Given the description of an element on the screen output the (x, y) to click on. 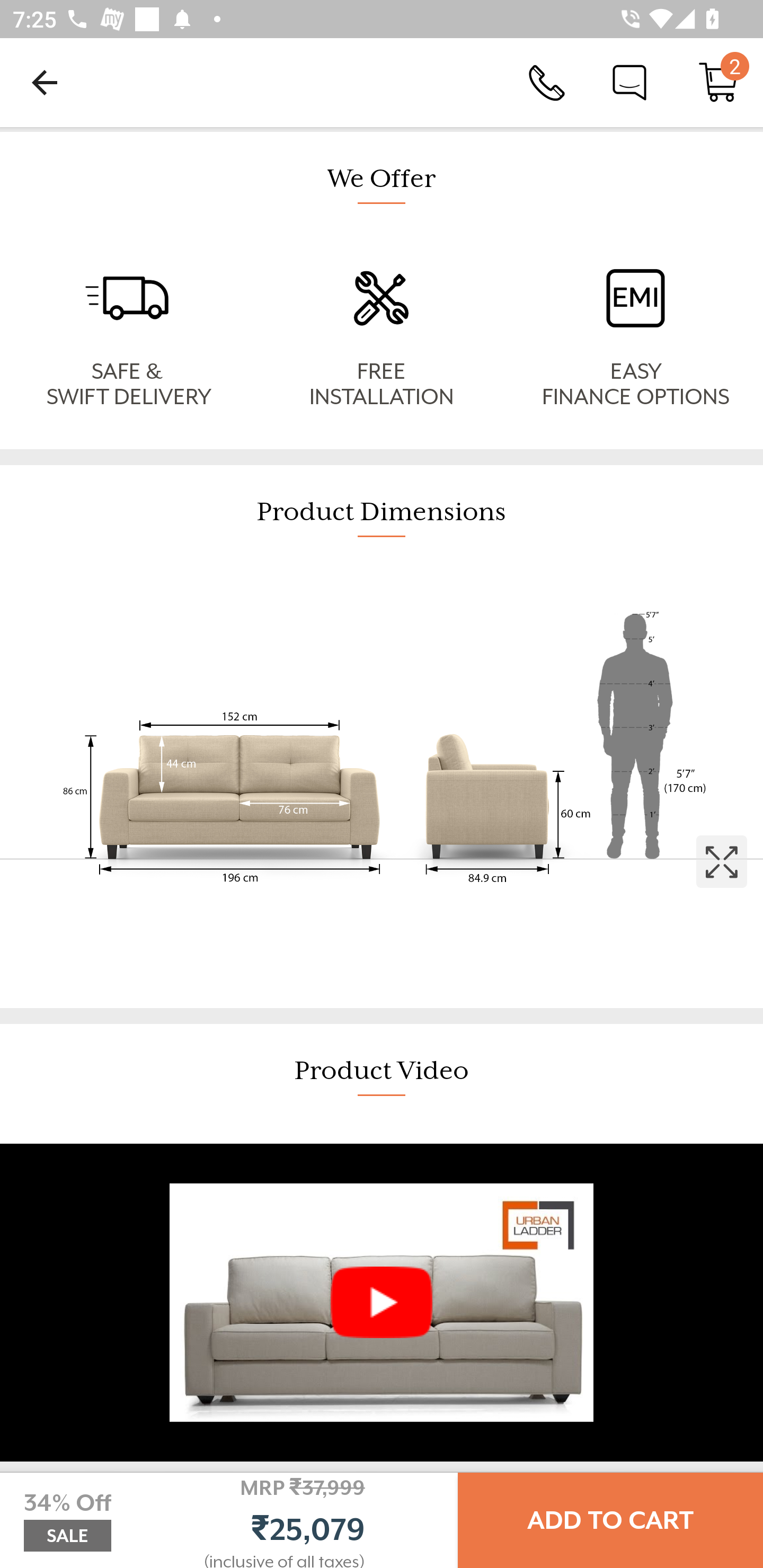
Navigate up (44, 82)
Call Us (546, 81)
Chat (629, 81)
Cart (718, 81)
 (381, 784)
ADD TO CART (610, 1520)
